Given the description of an element on the screen output the (x, y) to click on. 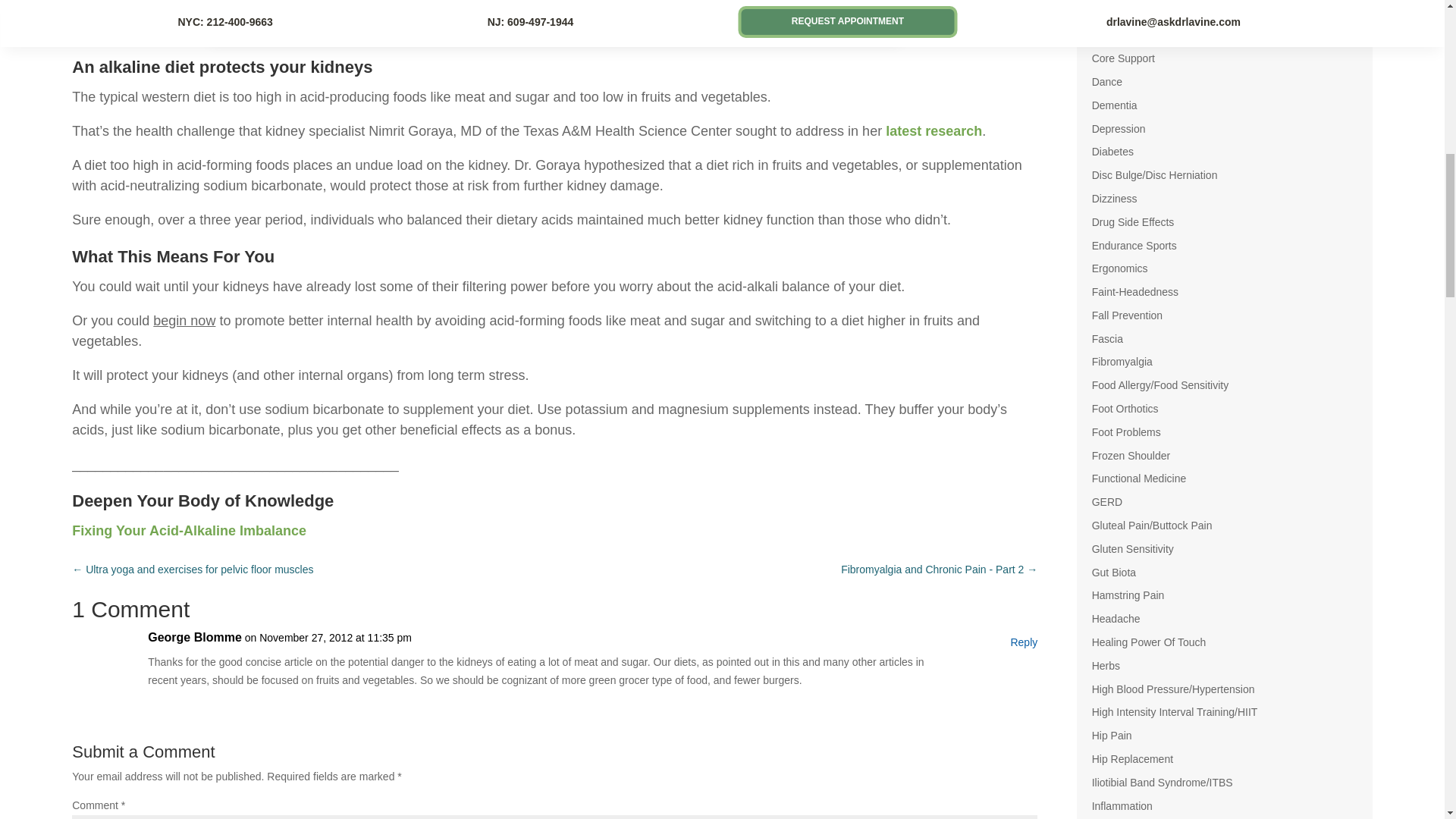
Acid-Alkaline Imbalance and Kidney Health (933, 130)
Fixing Your Acid-Alkaline Imbalance (188, 530)
